Given the description of an element on the screen output the (x, y) to click on. 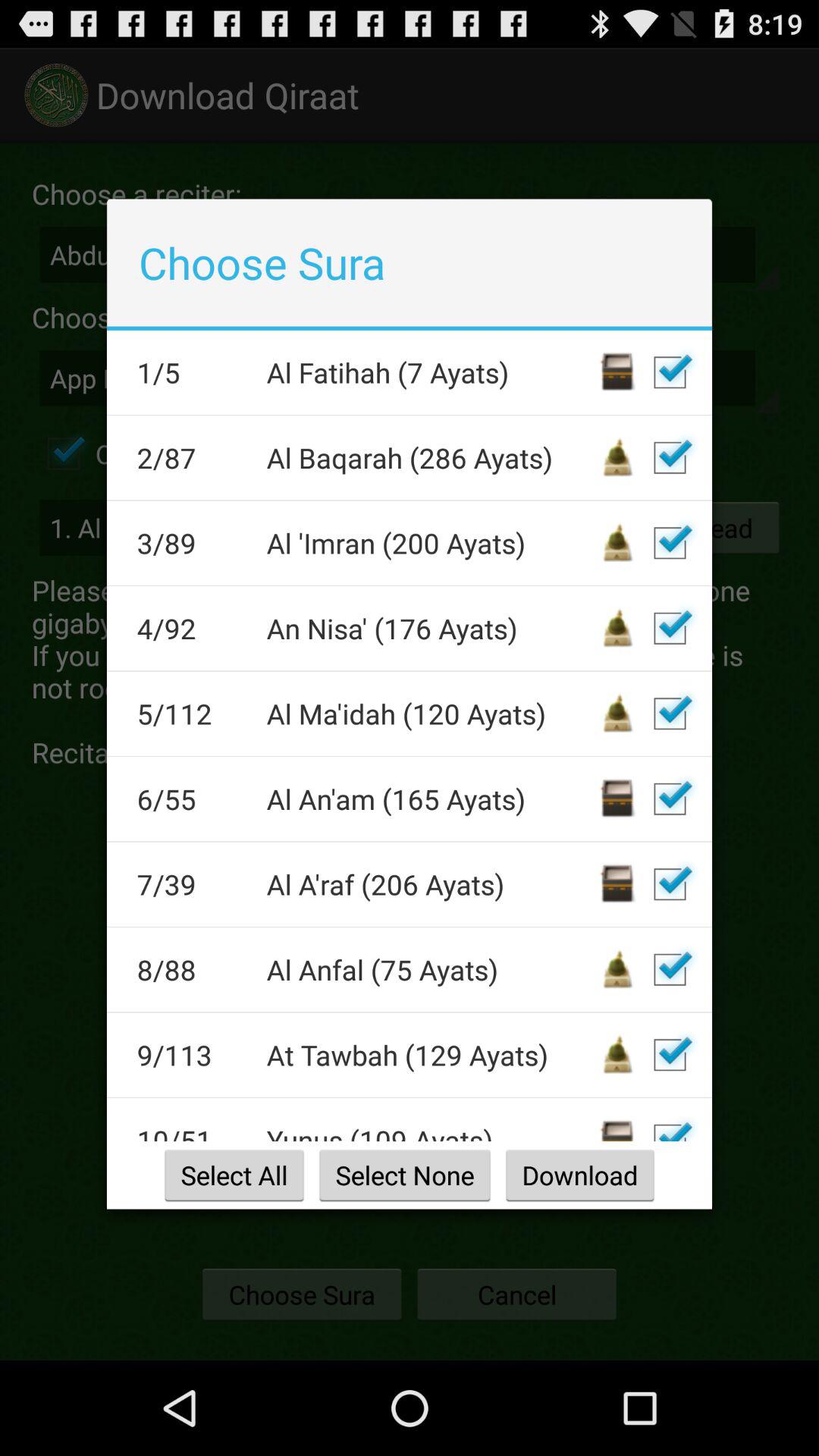
deselect 9/113 (669, 1054)
